Given the description of an element on the screen output the (x, y) to click on. 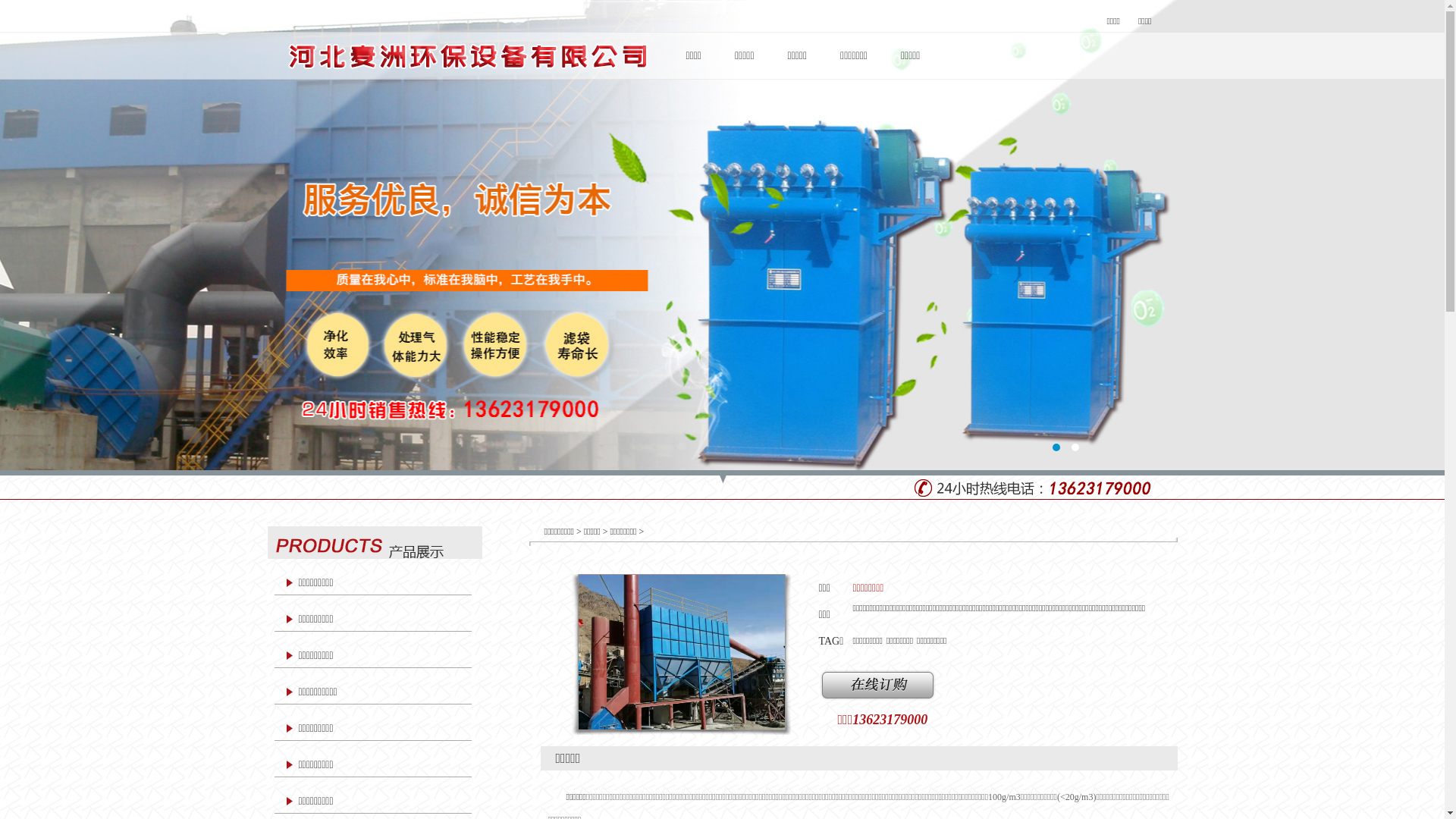
2 Element type: text (1074, 447)
1 Element type: text (1056, 447)
